Given the description of an element on the screen output the (x, y) to click on. 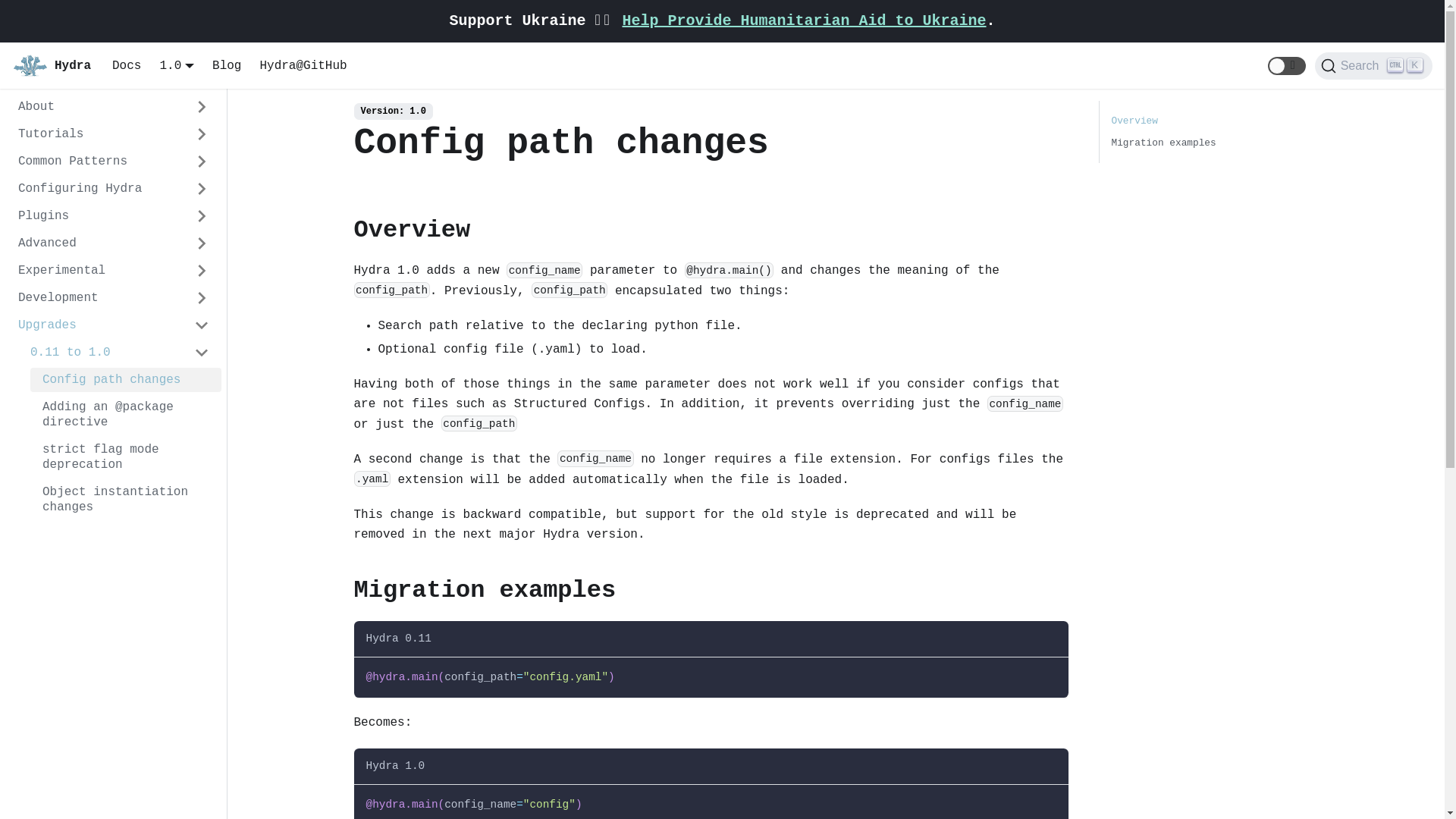
Development Element type: text (113, 297)
Docs Element type: text (126, 65)
Adding an @package directive Element type: text (125, 414)
Migration examples Element type: text (1163, 142)
Config path changes Element type: text (125, 379)
Blog Element type: text (226, 65)
Upgrades Element type: text (113, 325)
1.0 Element type: text (176, 65)
Hydra@GitHub Element type: text (302, 65)
Help Provide Humanitarian Aid to Ukraine Element type: text (803, 21)
Overview Element type: text (1134, 120)
About Element type: text (113, 106)
Experimental Element type: text (113, 270)
Tutorials Element type: text (113, 134)
Plugins Element type: text (113, 215)
0.11 to 1.0 Element type: text (119, 352)
Object instantiation changes Element type: text (125, 499)
strict flag mode deprecation Element type: text (125, 456)
Configuring Hydra Element type: text (113, 188)
Search
K Element type: text (1373, 65)
Advanced Element type: text (113, 243)
Common Patterns Element type: text (113, 161)
Hydra Element type: text (51, 65)
